Given the description of an element on the screen output the (x, y) to click on. 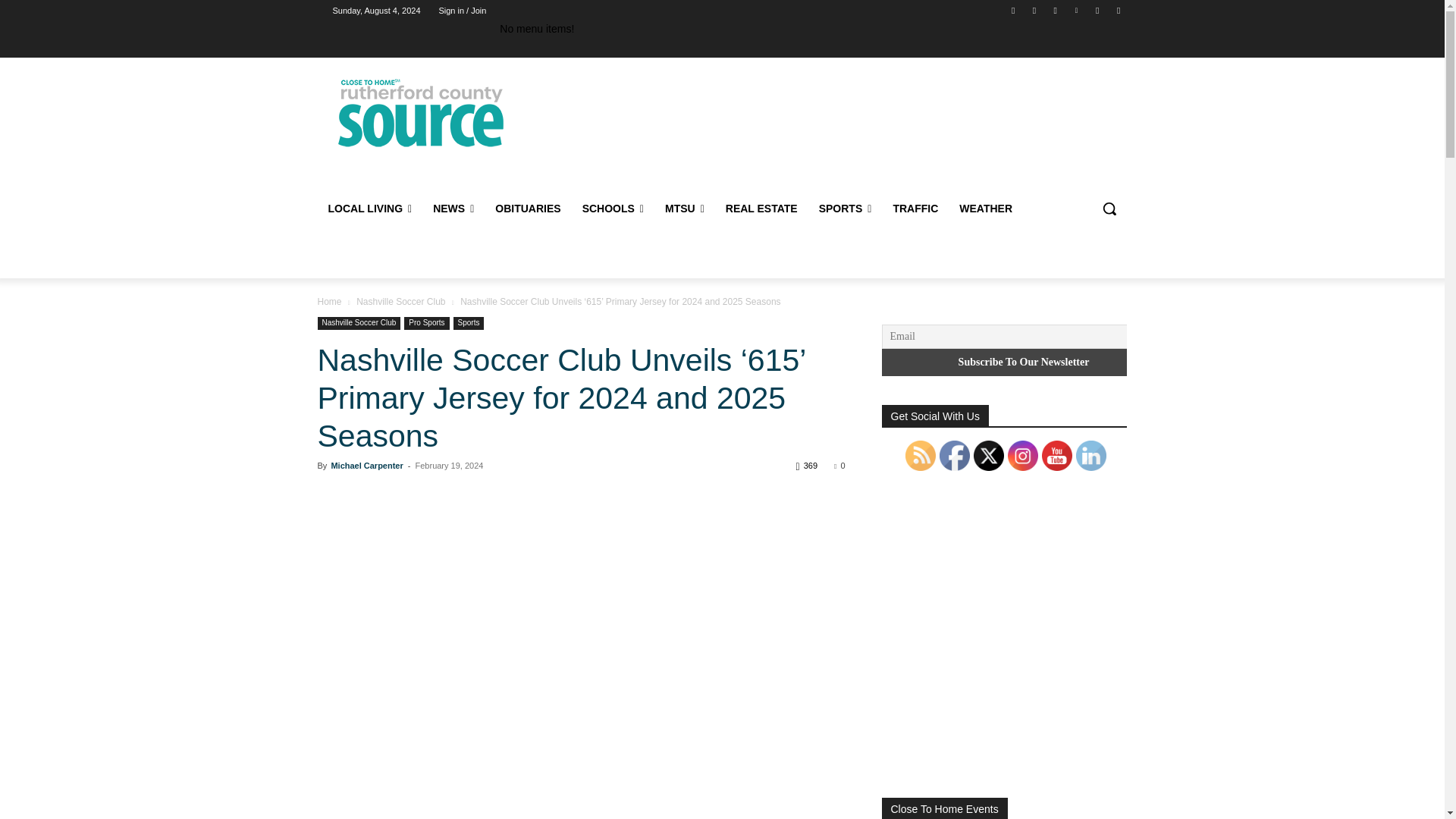
Twitter (1097, 9)
Subscribe To Our Newsletter (1023, 361)
Instagram (1055, 9)
Linkedin (1075, 9)
Facebook (1013, 9)
Youtube (1117, 9)
Flipboard (1034, 9)
